Given the description of an element on the screen output the (x, y) to click on. 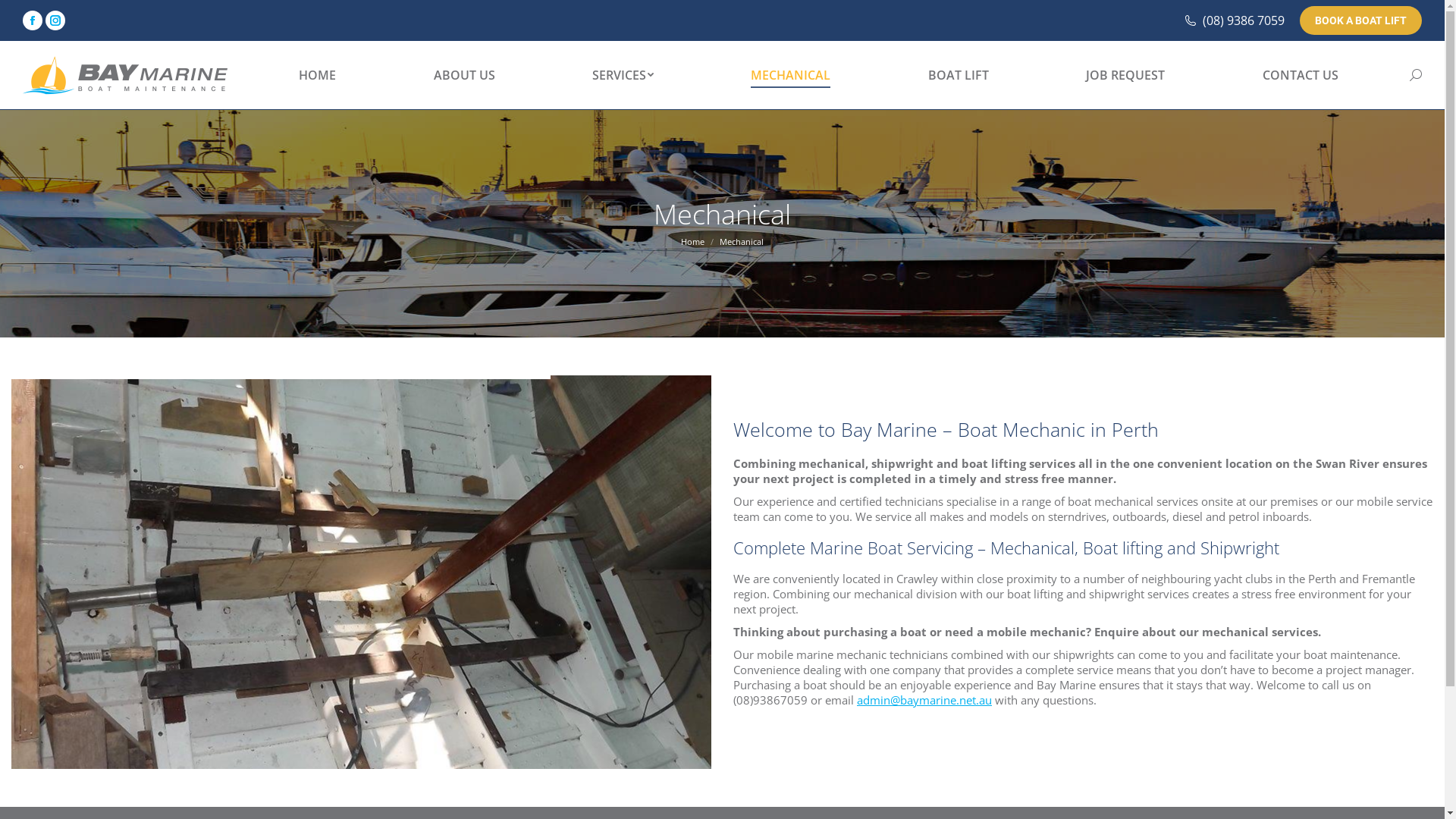
ABOUT US Element type: text (464, 74)
BOOK A BOAT LIFT Element type: text (1360, 20)
Facebook page opens in new window Element type: text (32, 20)
CONTACT US Element type: text (1300, 74)
MECHANICAL Element type: text (790, 74)
HOME Element type: text (317, 74)
Home Element type: text (692, 240)
Go! Element type: text (23, 16)
JOB REQUEST Element type: text (1124, 74)
Instagram page opens in new window Element type: text (55, 20)
admin@baymarine.net.au Element type: text (923, 699)
SERVICES Element type: text (622, 74)
BOAT LIFT Element type: text (958, 74)
